Given the description of an element on the screen output the (x, y) to click on. 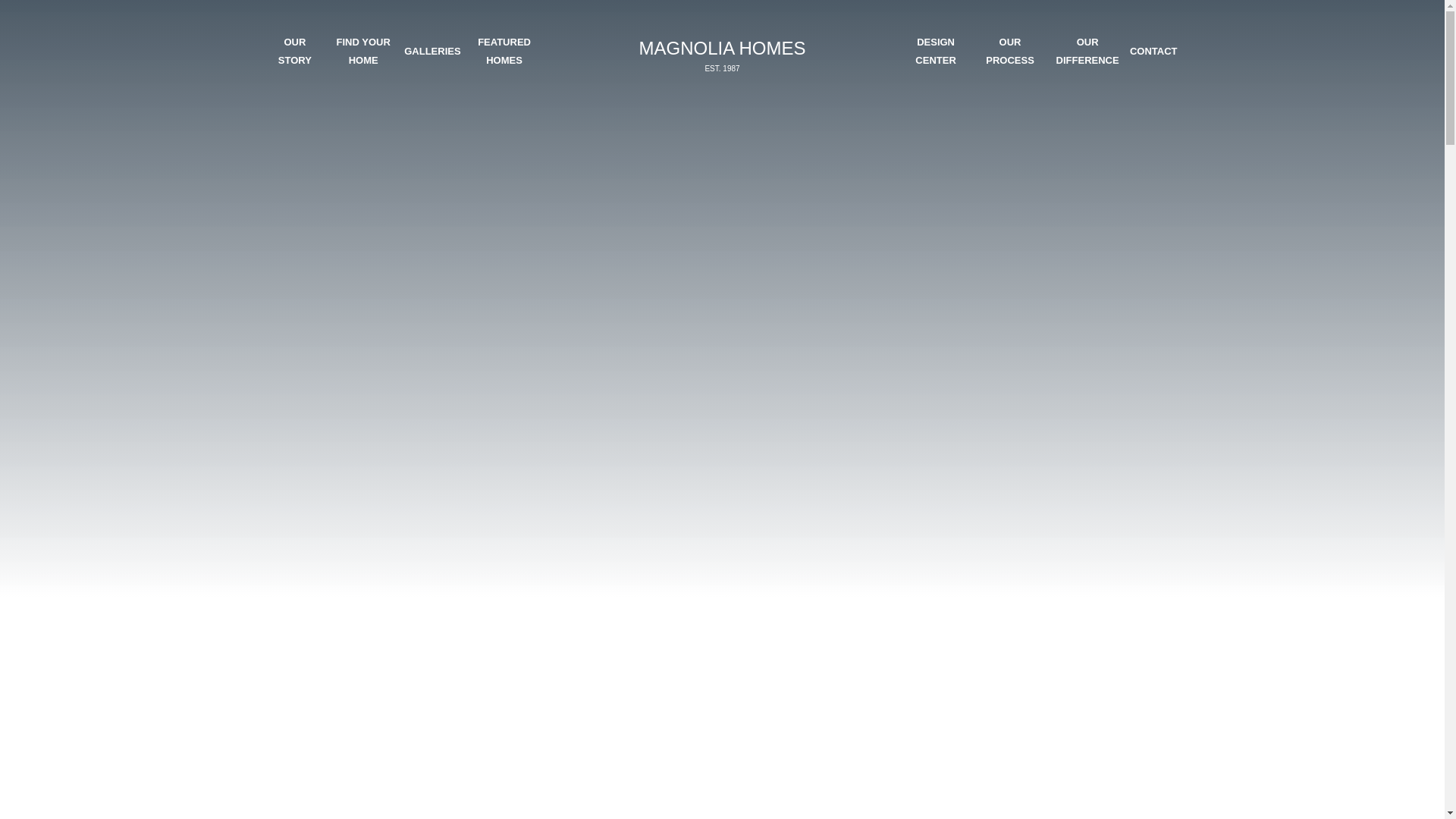
CONTACT (1153, 50)
OUR PROCESS (1009, 51)
FIND YOUR HOME (363, 51)
GALLERIES (432, 50)
FEATURED HOMES (504, 51)
DESIGN CENTER (935, 51)
OUR DIFFERENCE (1088, 51)
OUR STORY (721, 54)
